Given the description of an element on the screen output the (x, y) to click on. 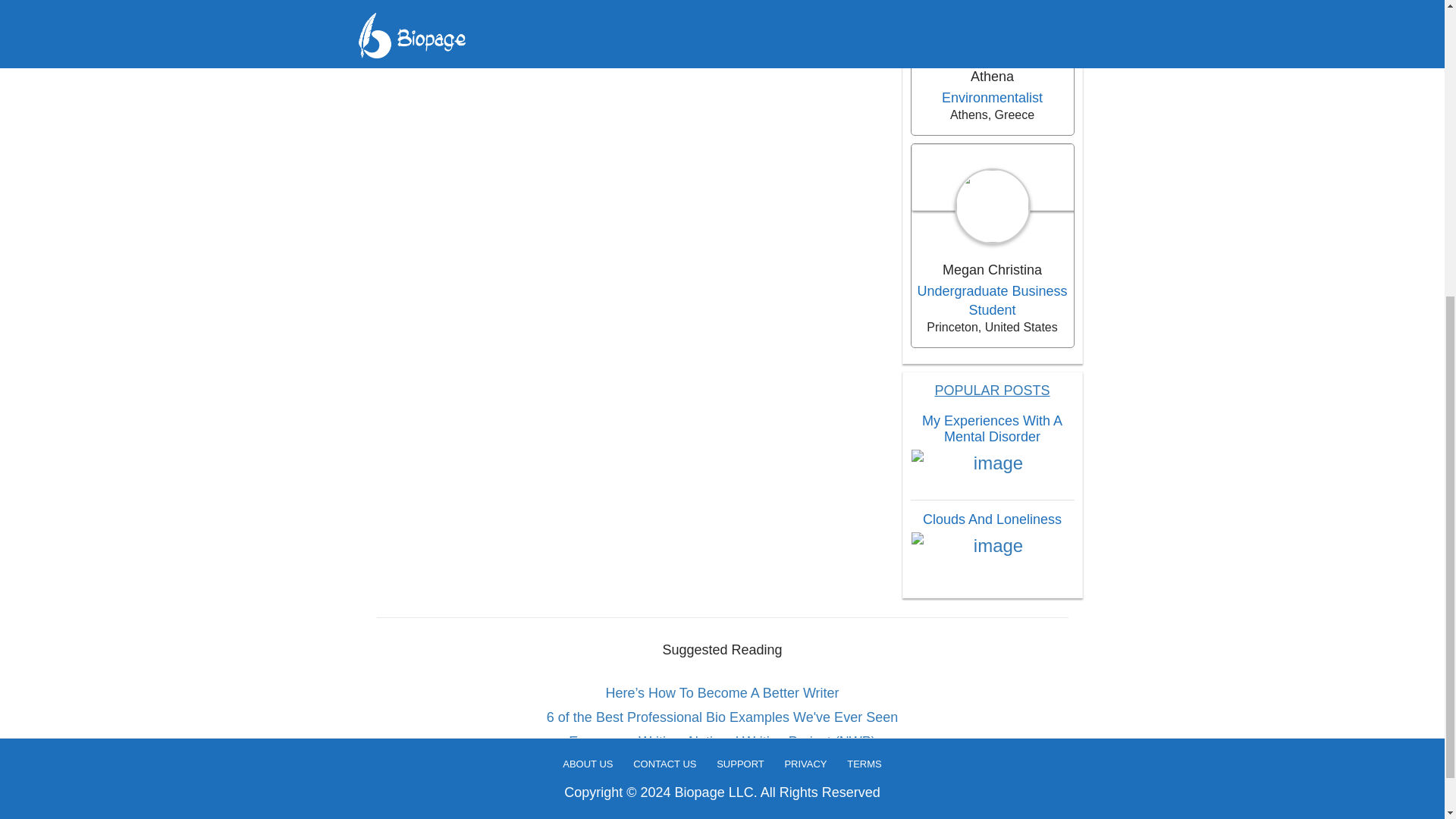
POPULAR POSTS (991, 390)
Clouds And Loneliness (992, 519)
My Experiences With A Mental Disorder (992, 429)
6 of the Best Professional Bio Examples We've Ever Seen (722, 717)
CONTACT US (664, 278)
SUPPORT (740, 278)
ABOUT US (587, 278)
PRIVACY (805, 278)
Megan Christina (991, 270)
TERMS (864, 278)
